Given the description of an element on the screen output the (x, y) to click on. 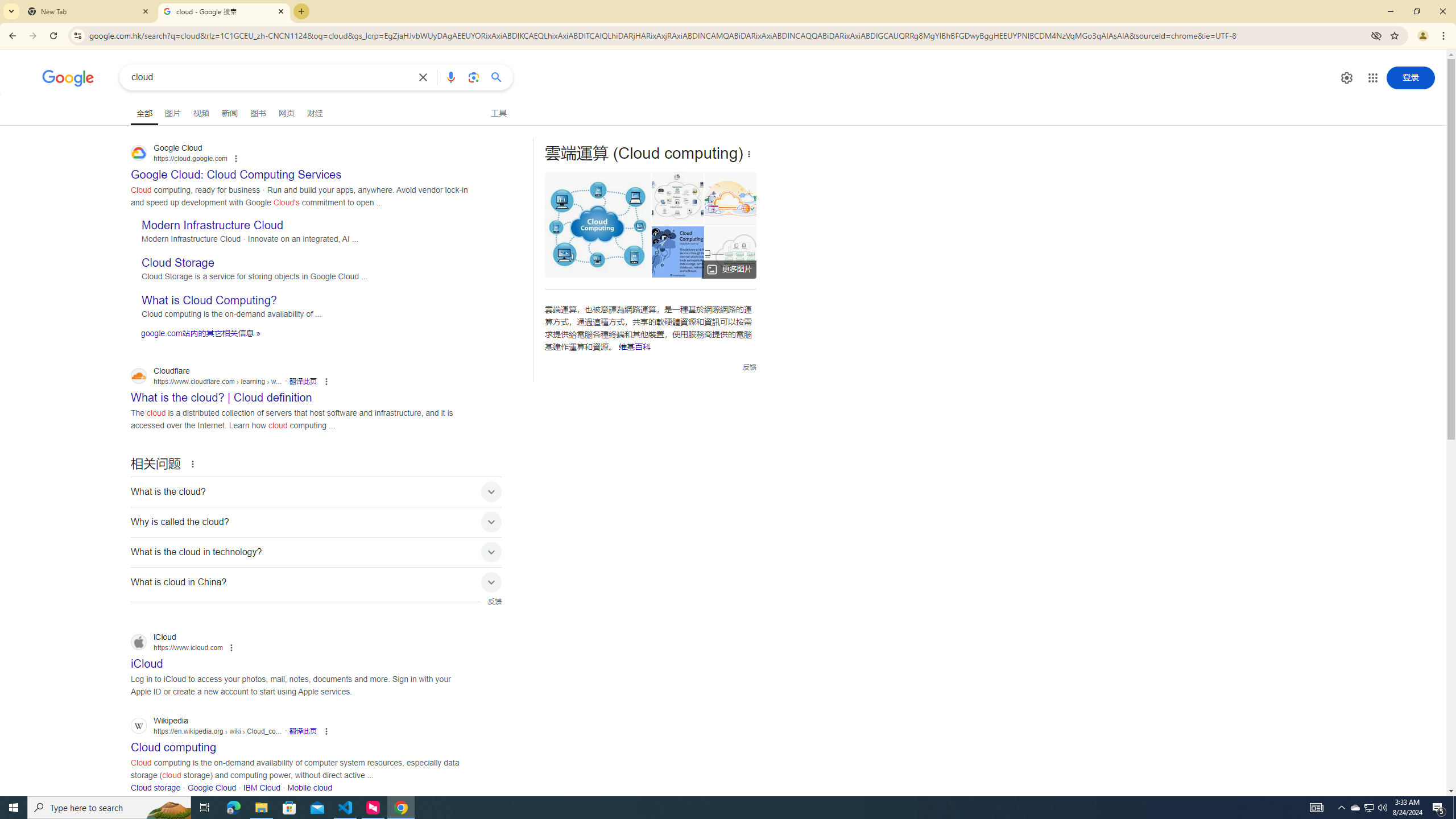
Connectivity Cloud | Cloudflare (726, 198)
Cloud computing - Wikipedia (677, 198)
Cloud computing - Wikipedia (677, 198)
What is the cloud? | Cloud definition | Cloudflare (730, 251)
What is the cloud? | Cloud definition | Cloudflare (734, 251)
 iCloud iCloud https://www.icloud.com (147, 660)
